Given the description of an element on the screen output the (x, y) to click on. 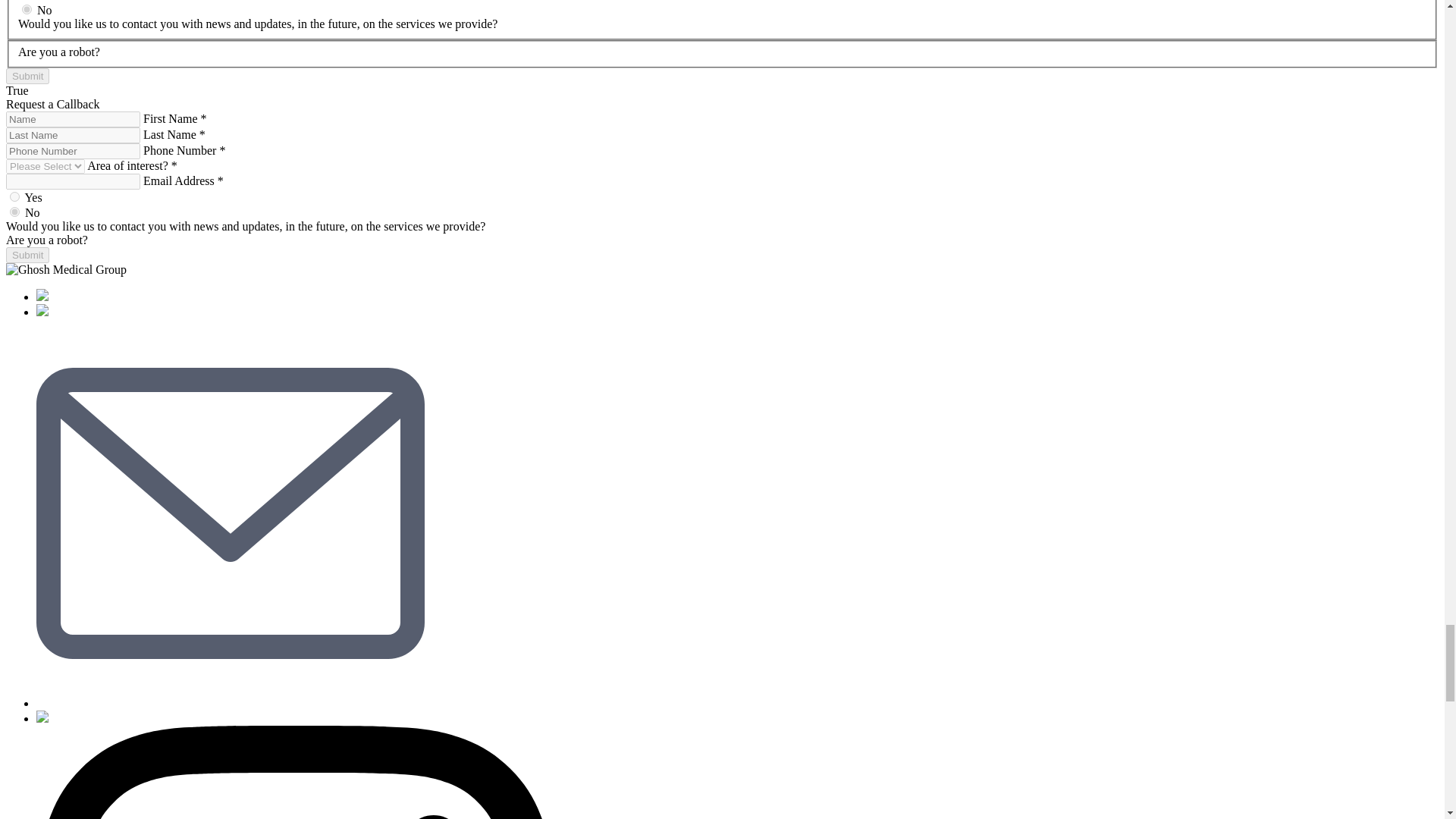
No (26, 9)
